Given the description of an element on the screen output the (x, y) to click on. 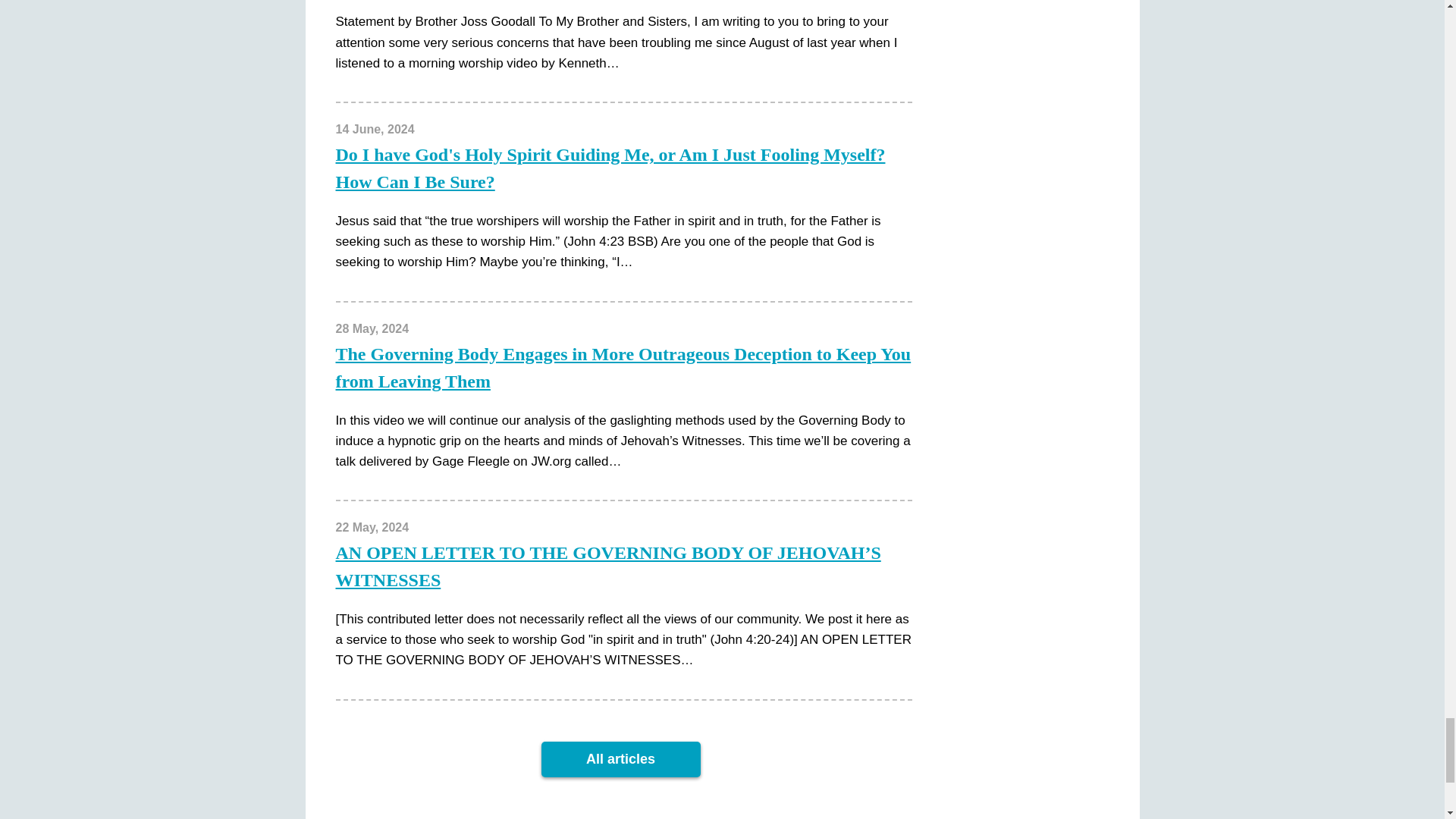
Tuesday, May 28, 2024 (371, 328)
Friday, June 14, 2024 (373, 128)
Wednesday, May 22, 2024 (371, 526)
All articles (620, 759)
